Given the description of an element on the screen output the (x, y) to click on. 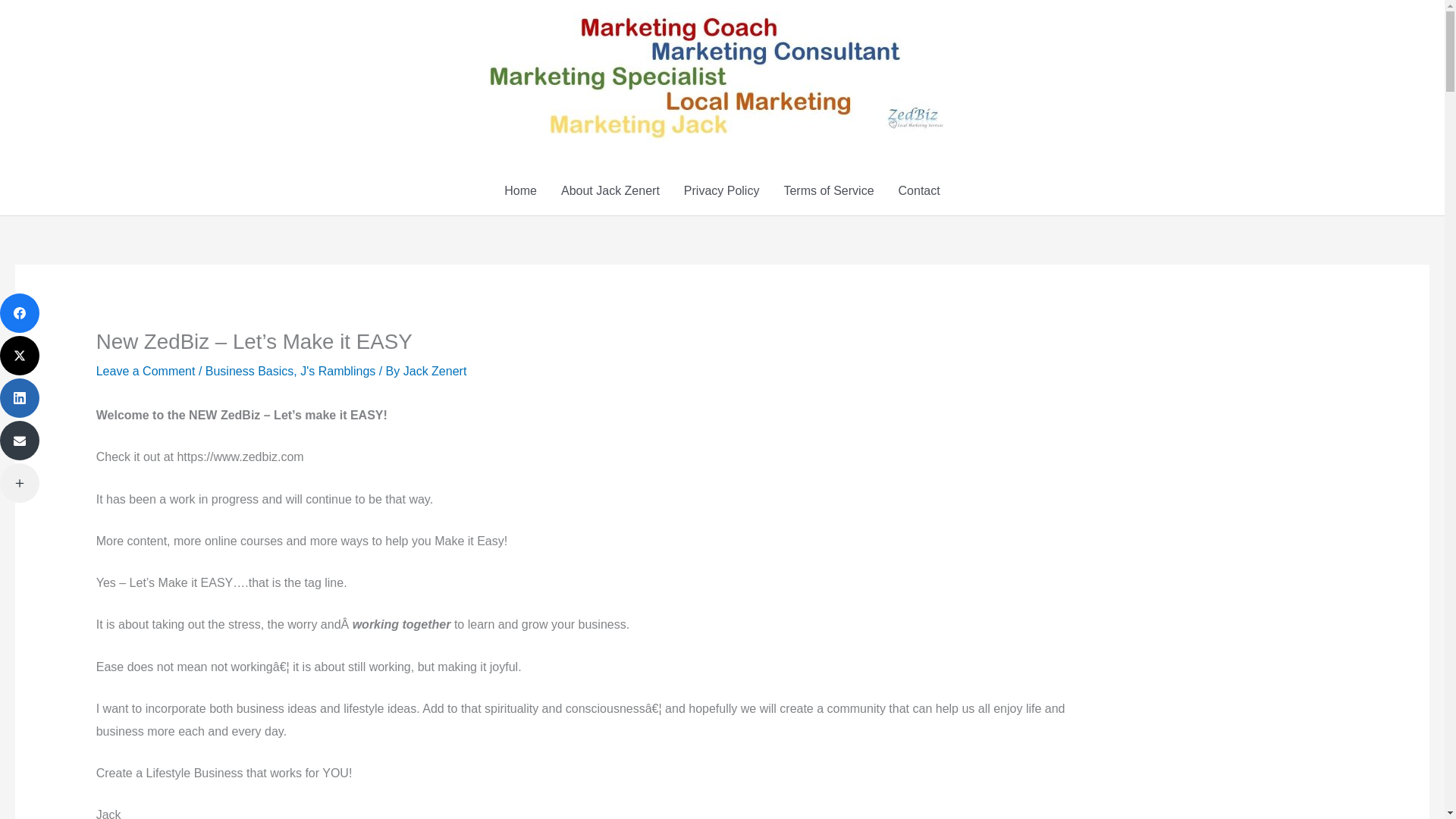
View all posts by Jack Zenert (435, 370)
About Jack Zenert (609, 191)
Contact (919, 191)
Home (520, 191)
Terms of Service (828, 191)
Privacy Policy (721, 191)
J's Ramblings (337, 370)
Leave a Comment (145, 370)
Business Basics (249, 370)
Jack Zenert (435, 370)
